Given the description of an element on the screen output the (x, y) to click on. 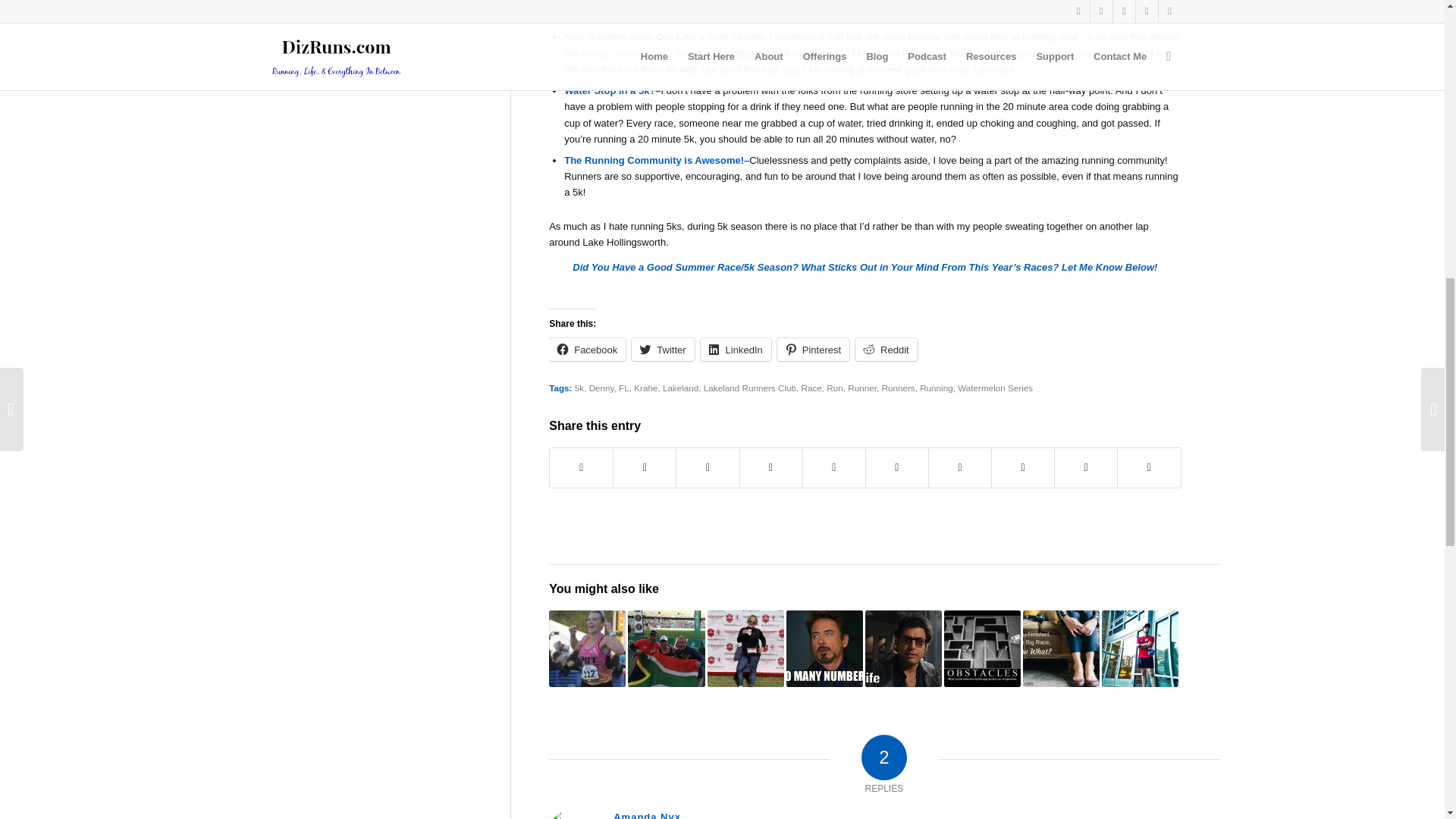
Reddit (886, 349)
Click to share on Twitter (662, 349)
Twitter (662, 349)
Facebook (587, 349)
Click to share on LinkedIn (735, 349)
Click to share on Facebook (587, 349)
Pinterest (812, 349)
taking control of their health (641, 52)
LinkedIn (735, 349)
